Given the description of an element on the screen output the (x, y) to click on. 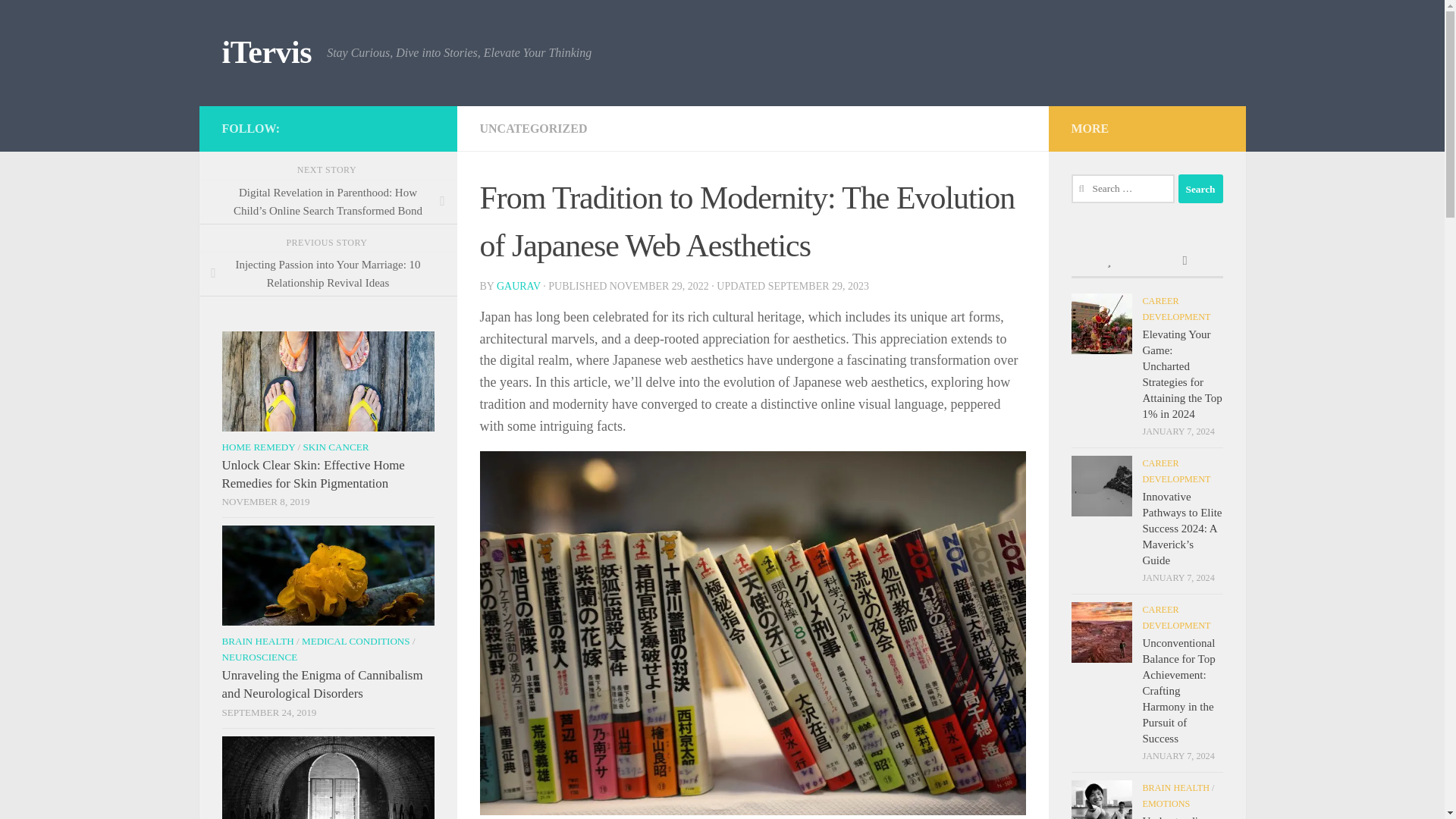
Search (1200, 188)
SKIN CANCER (335, 446)
Popular Posts (1108, 261)
NEUROSCIENCE (259, 656)
BRAIN HEALTH (257, 641)
MEDICAL CONDITIONS (355, 641)
UNCATEGORIZED (532, 128)
iTervis (266, 53)
Search (1200, 188)
